Given the description of an element on the screen output the (x, y) to click on. 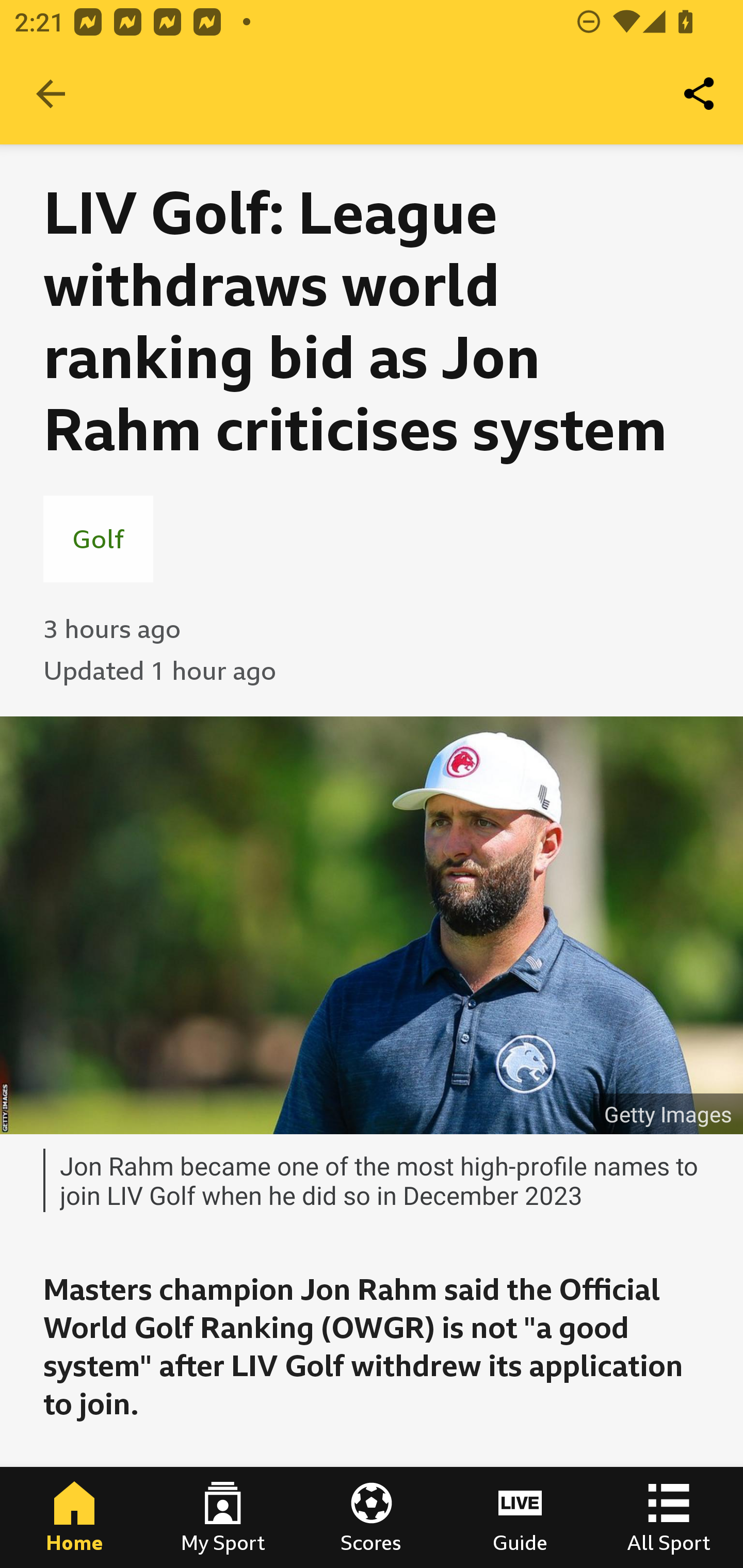
Navigate up (50, 93)
Share (699, 93)
Golf (98, 538)
My Sport (222, 1517)
Scores (371, 1517)
Guide (519, 1517)
All Sport (668, 1517)
